Given the description of an element on the screen output the (x, y) to click on. 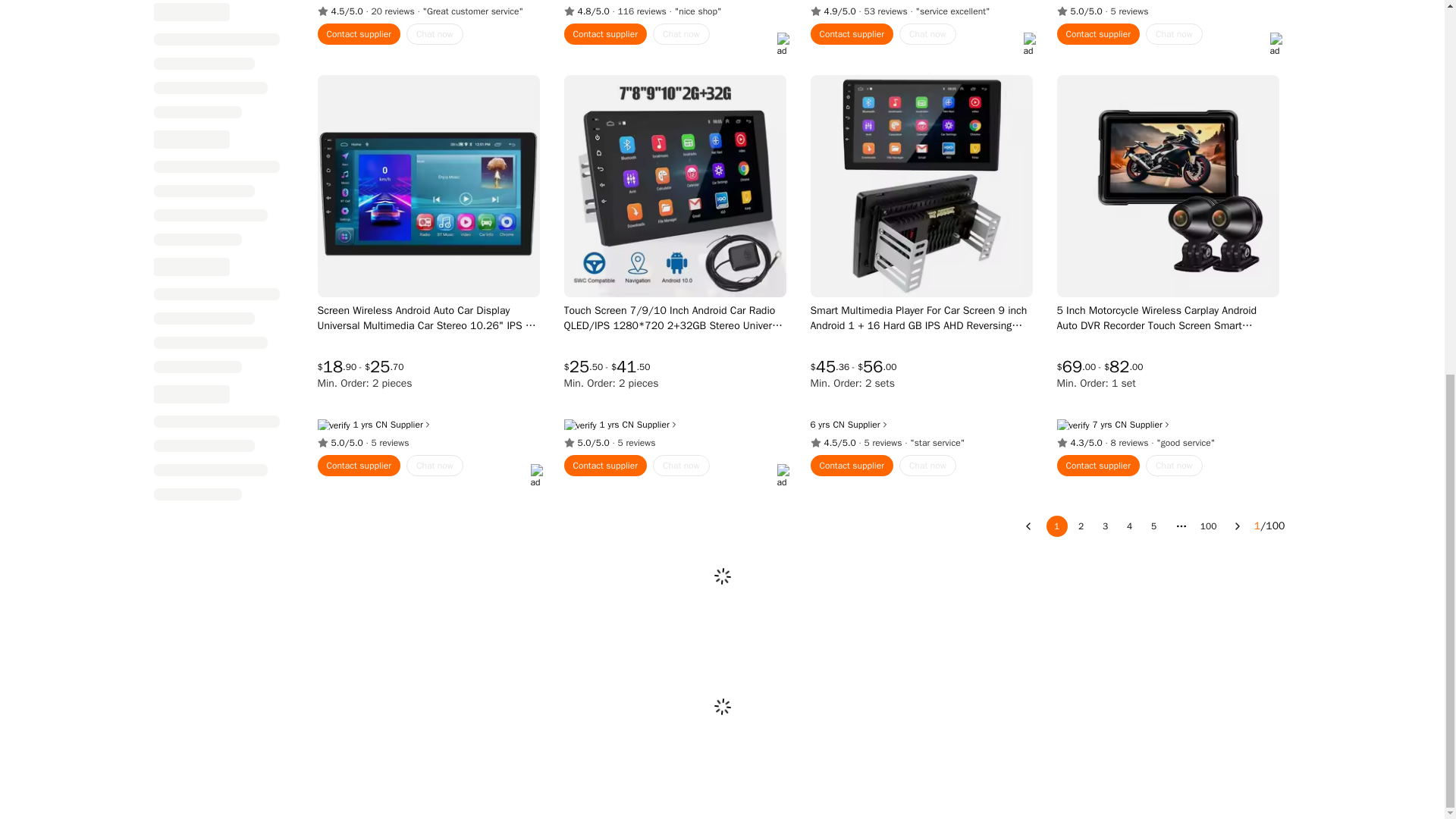
Shenzhen Xianghan Technology Co., Ltd. (1120, 424)
Chat now (927, 34)
Shenzhen Powersun Technology Co., Ltd. (838, 424)
Contact supplier (605, 34)
Contact supplier (358, 34)
Contact supplier (851, 34)
Chat now (681, 34)
Chat now (434, 34)
